Given the description of an element on the screen output the (x, y) to click on. 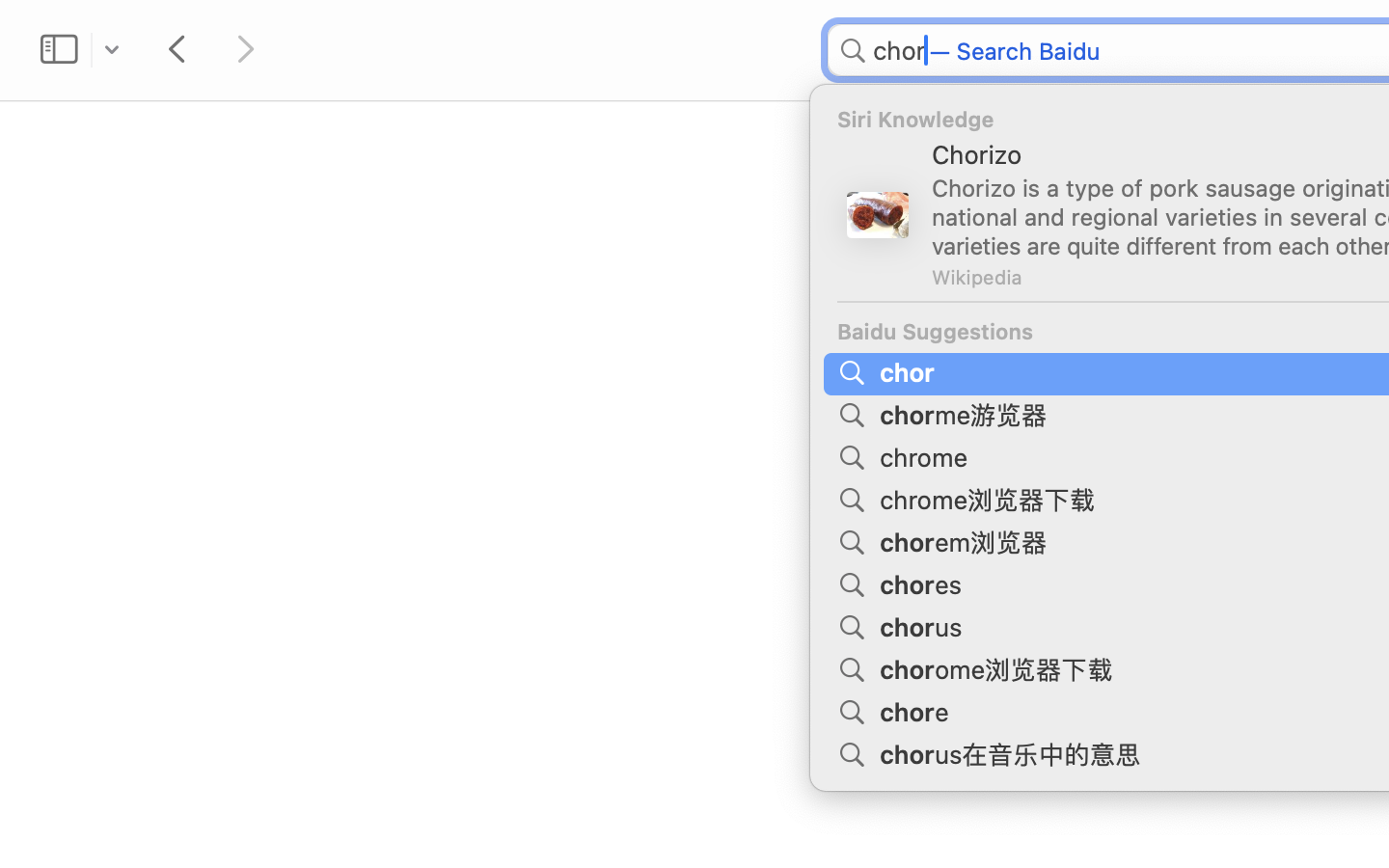
chorme游览器 Element type: AXStaticText (966, 412)
chores Element type: AXStaticText (923, 582)
Wikipedia Element type: AXStaticText (976, 276)
chorome浏览器下载 Element type: AXStaticText (998, 667)
chrome浏览器下载 Element type: AXStaticText (990, 497)
